Given the description of an element on the screen output the (x, y) to click on. 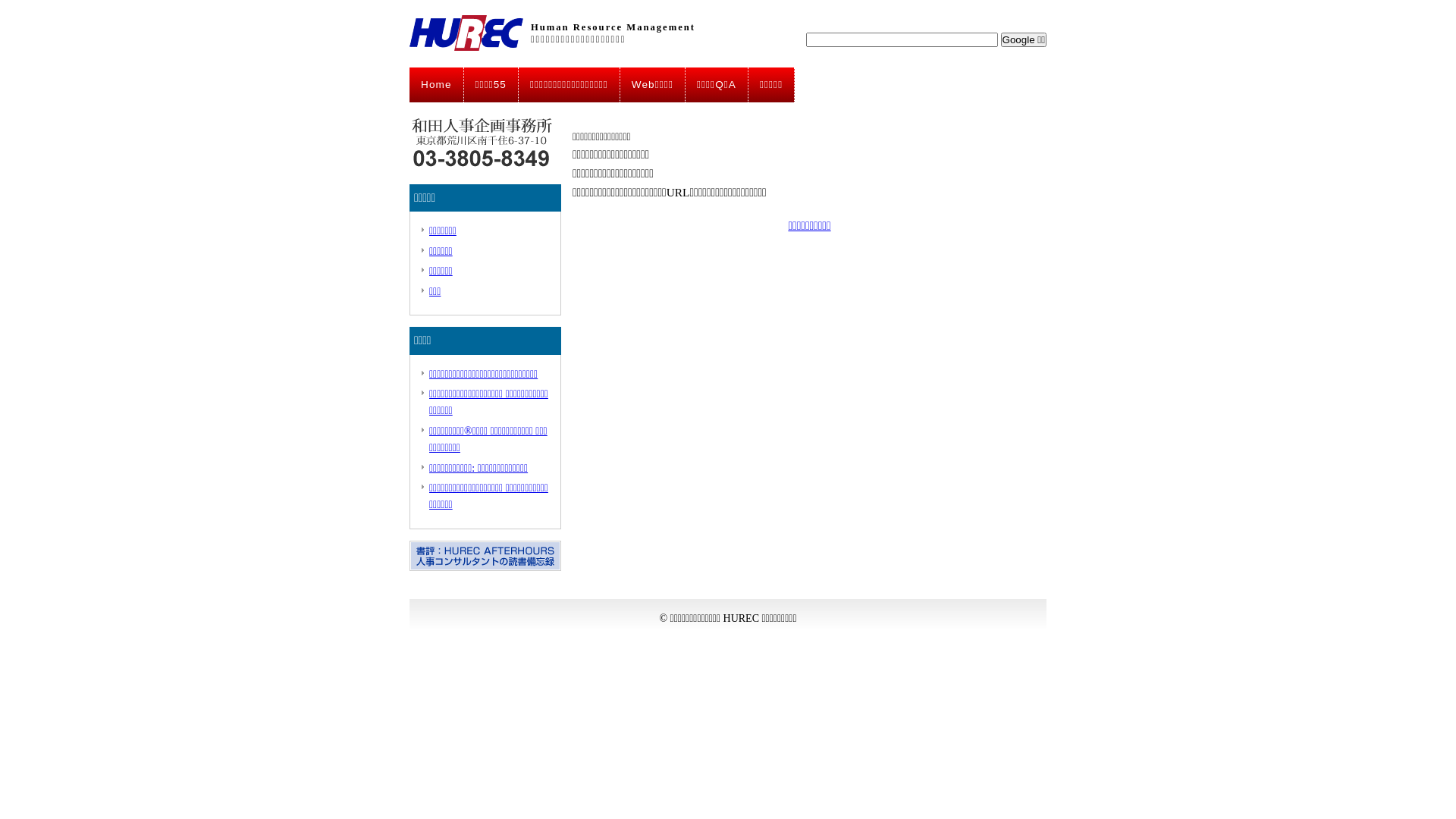
Home Element type: text (436, 84)
